Given the description of an element on the screen output the (x, y) to click on. 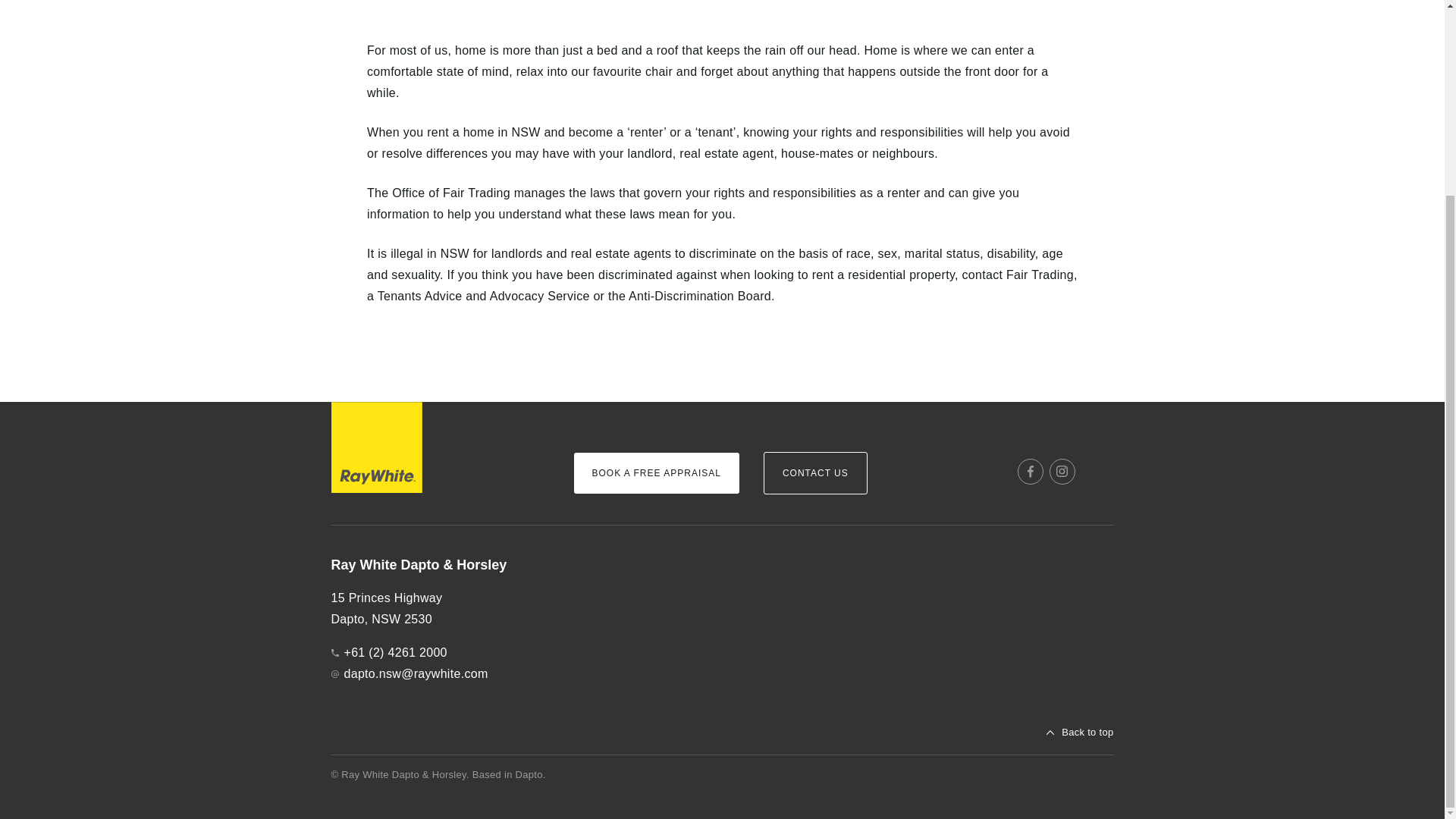
BOOK A FREE APPRAISAL (655, 472)
Back to top (1079, 732)
Instagram (1062, 471)
CONTACT US (814, 473)
Ray White (376, 447)
Facebook (1030, 471)
